Given the description of an element on the screen output the (x, y) to click on. 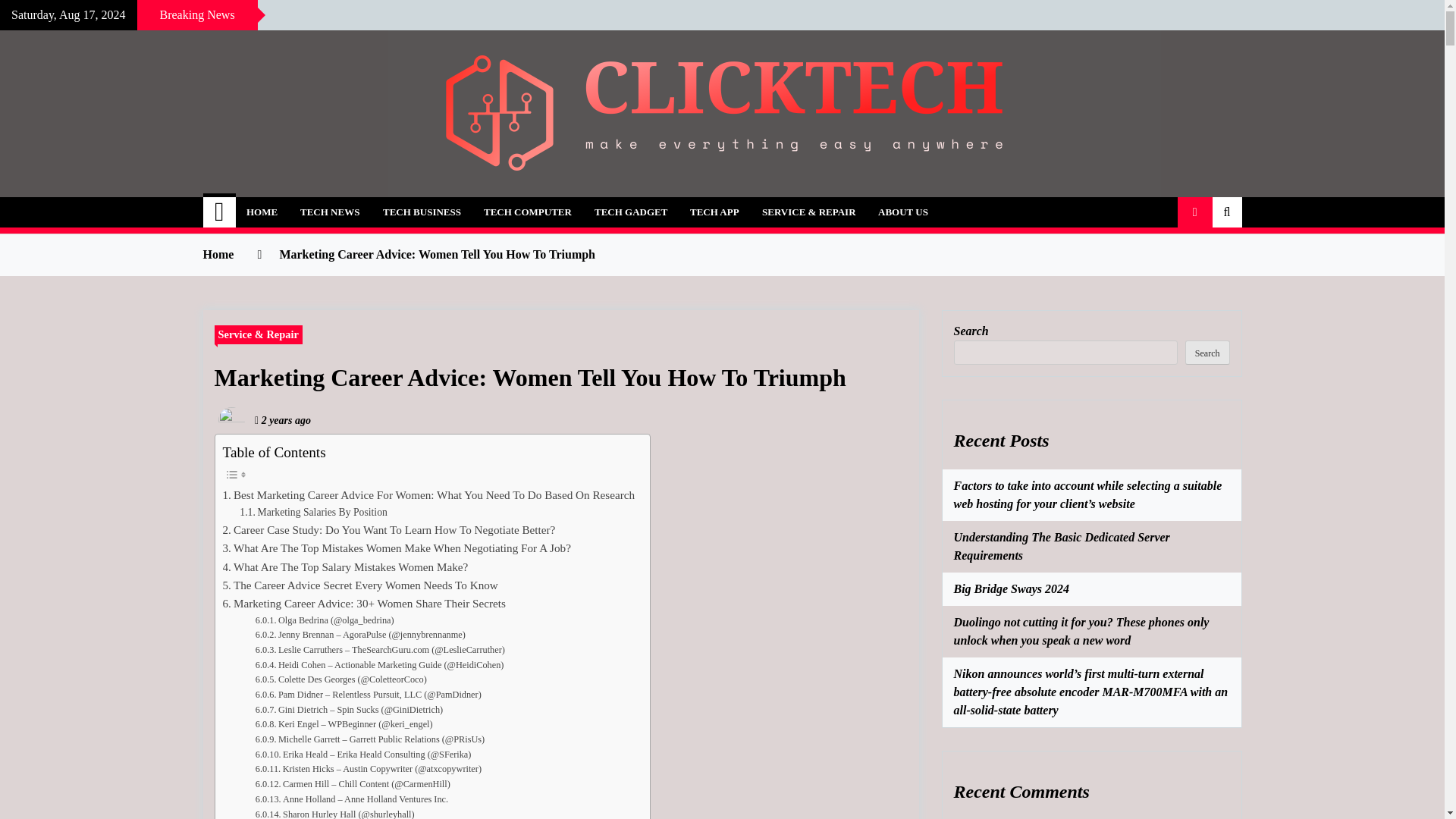
Home (219, 212)
TECH COMPUTER (527, 212)
TECH NEWS (329, 212)
Click For Tech (311, 203)
The Career Advice Secret Every Women Needs To Know (359, 585)
Marketing Salaries By Position (313, 512)
What Are The Top Salary Mistakes Women Make? (345, 566)
TECH GADGET (630, 212)
